Given the description of an element on the screen output the (x, y) to click on. 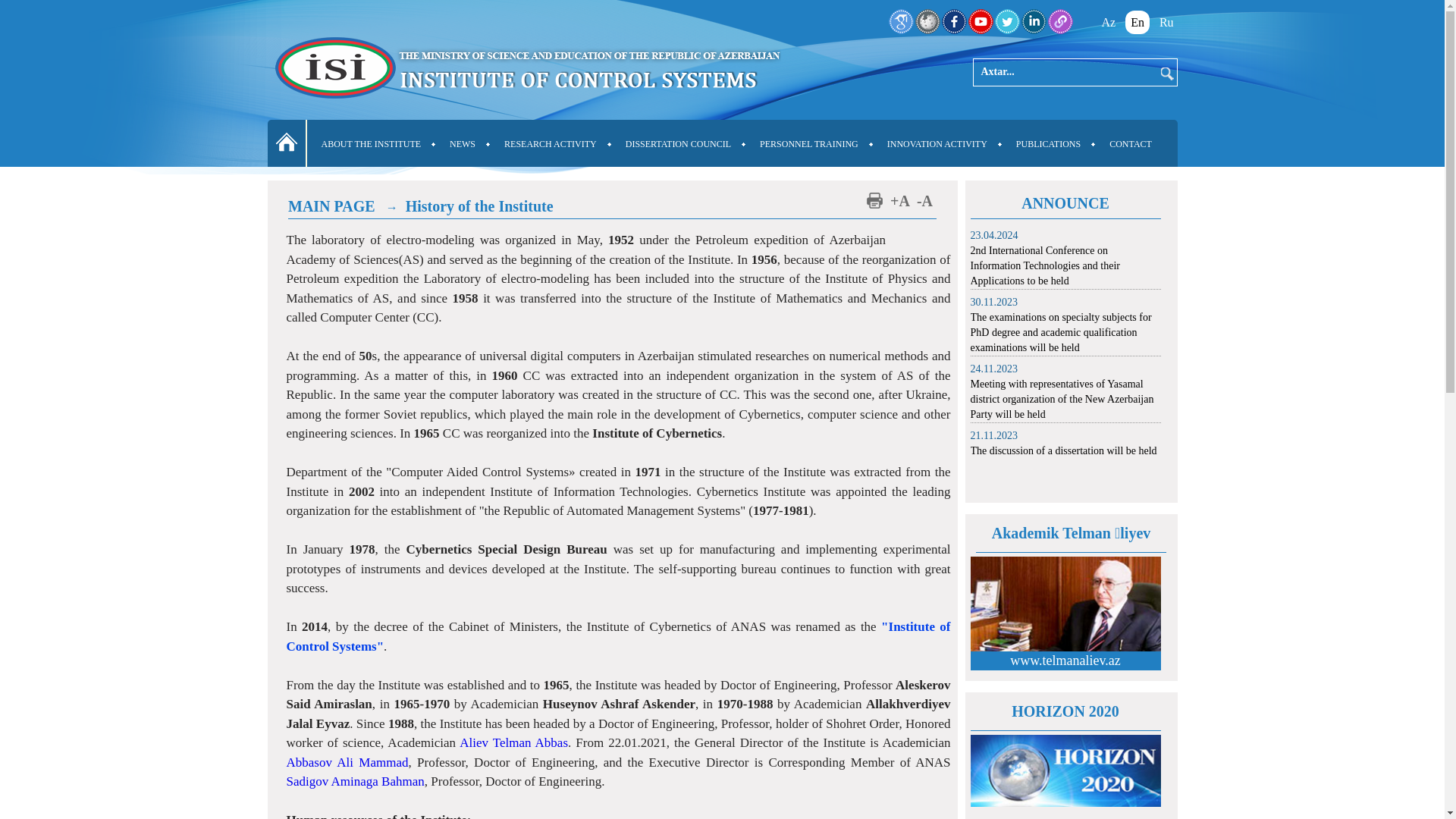
Sadigov Aminaga Bahman Element type: text (355, 781)
NEWS Element type: text (462, 144)
+A Element type: text (900, 200)
PERSONNEL TRAINING Element type: text (808, 144)
Az Element type: text (1108, 22)
Abbasov Ali Mammad Element type: text (347, 762)
CONTACT Element type: text (1130, 144)
MAIN PAGE Element type: text (331, 205)
Aliev Telman Abbas Element type: text (513, 742)
PUBLICATIONS Element type: text (1047, 144)
The discussion of a dissertation will be held Element type: text (1065, 450)
ANNOUNCE Element type: text (1065, 202)
En Element type: text (1137, 22)
Ru Element type: text (1166, 22)
www.telmanaliev.az Element type: text (1065, 660)
ABOUT THE INSTITUTE Element type: text (370, 144)
INNOVATION ACTIVITY Element type: text (936, 144)
-A Element type: text (924, 200)
RESEARCH ACTIVITY Element type: text (550, 144)
HORIZON 2020 Element type: text (1065, 710)
DISSERTATION COUNCIL Element type: text (678, 144)
History of the Institute Element type: text (479, 205)
